Given the description of an element on the screen output the (x, y) to click on. 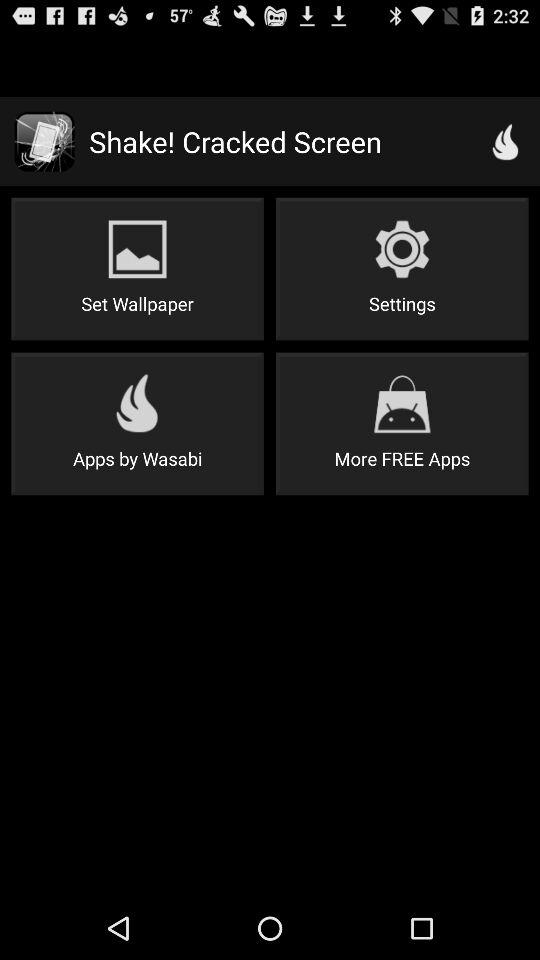
open button at the top left corner (137, 268)
